Given the description of an element on the screen output the (x, y) to click on. 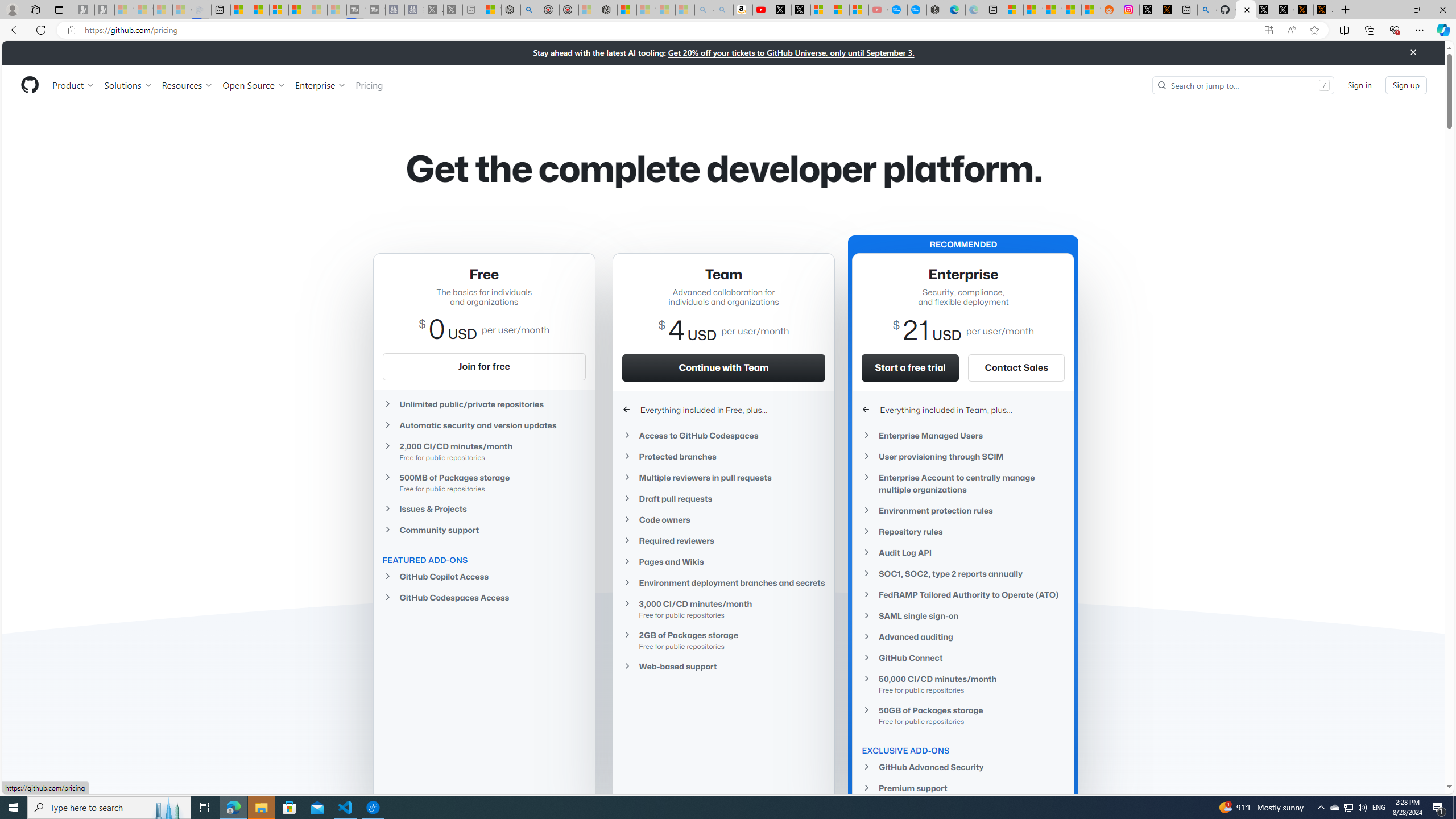
Shanghai, China weather forecast | Microsoft Weather (1033, 9)
2GB of Packages storageFree for public repositories (723, 640)
Pricing (368, 84)
Solutions (128, 84)
Enterprise Managed Users (963, 435)
Join for free (483, 366)
Wildlife - MSN (491, 9)
Code owners (723, 519)
Repository rules (963, 531)
Repository rules (963, 531)
Microsoft Start - Sleeping (316, 9)
Advanced auditing (963, 636)
